Given the description of an element on the screen output the (x, y) to click on. 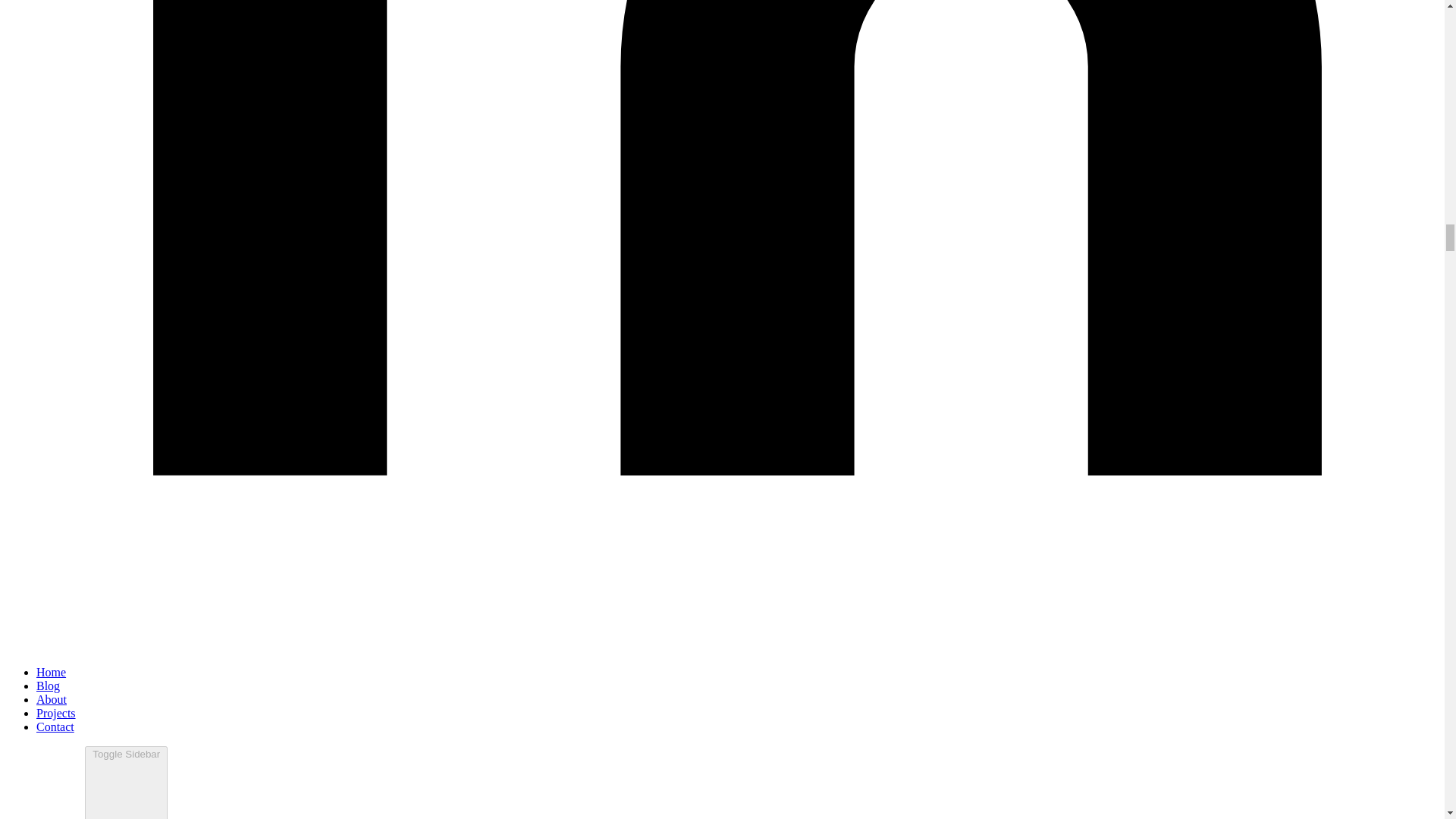
Toggle Sidebar (125, 782)
Contact (55, 726)
About (51, 698)
Blog (47, 685)
Projects (55, 712)
Home (50, 671)
